Given the description of an element on the screen output the (x, y) to click on. 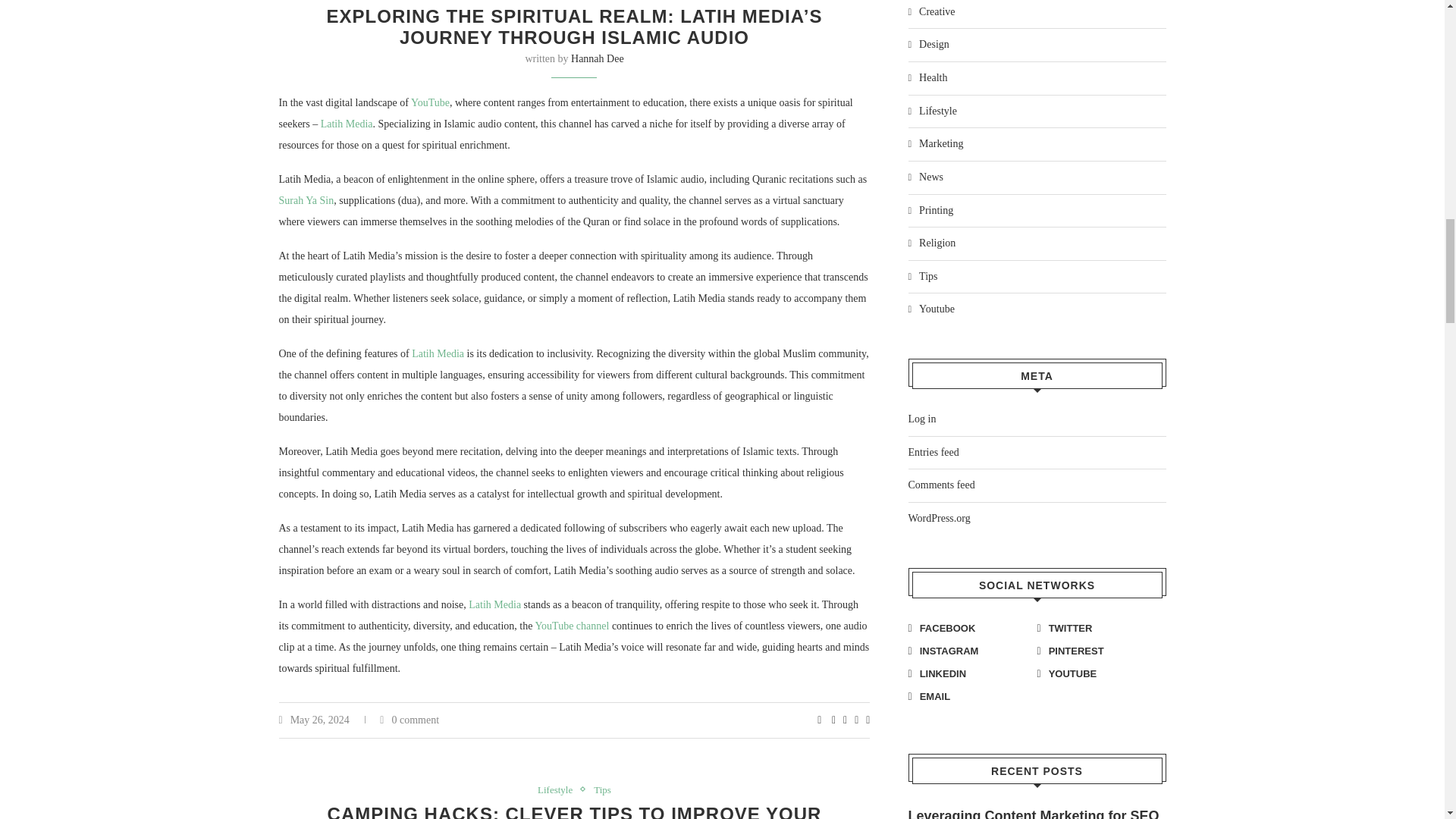
Hannah Dee (597, 58)
Latih Media (494, 604)
Latih Media (346, 123)
Latih Media (438, 353)
Leveraging Content Marketing for SEO Success in Asia (1037, 812)
YouTube (429, 102)
Surah Ya Sin (306, 200)
